Given the description of an element on the screen output the (x, y) to click on. 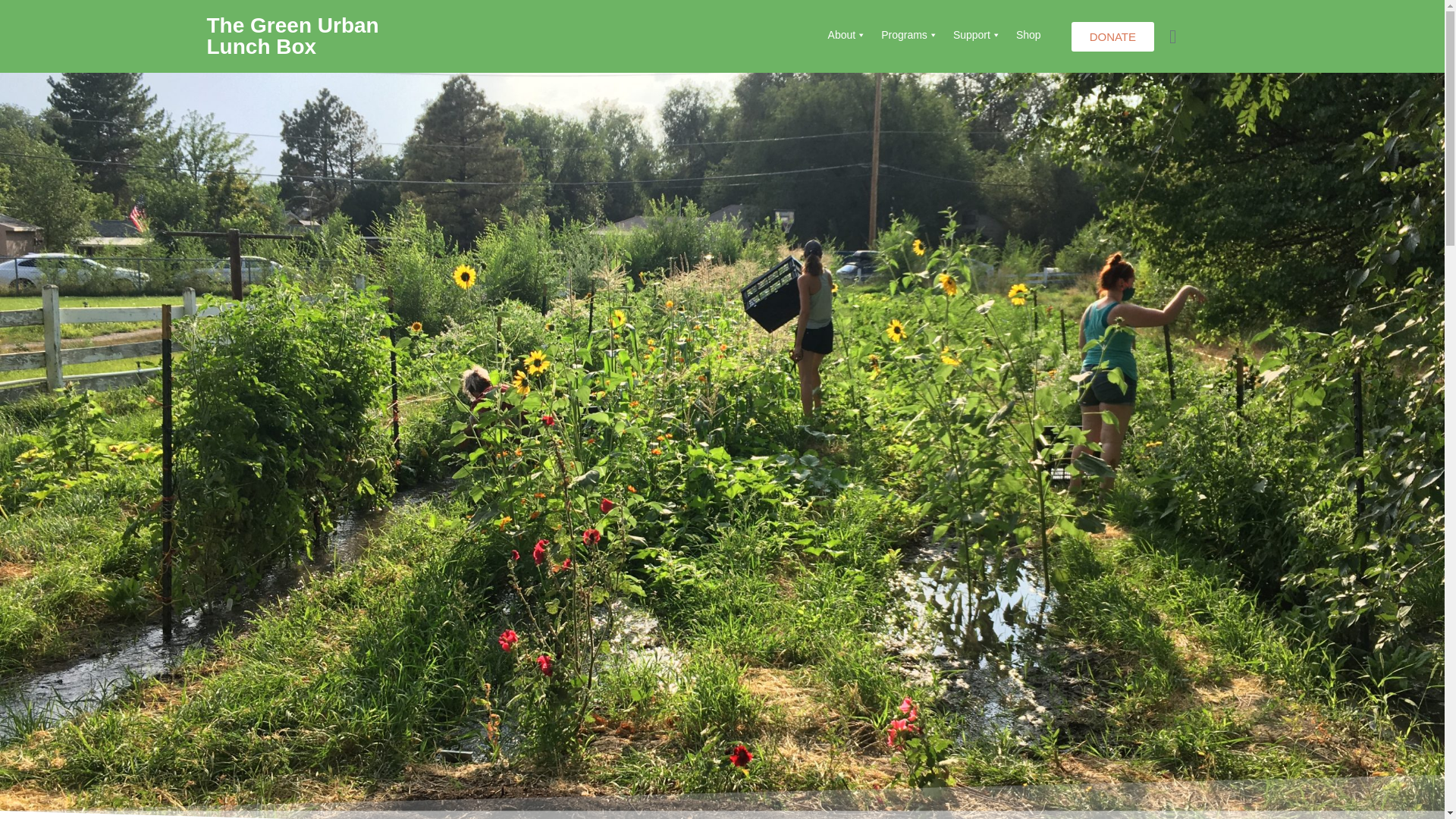
Shop (1028, 34)
Programs (908, 34)
About (848, 34)
The Green Urban Lunch Box (292, 35)
Support (976, 34)
DONATE (1112, 35)
